Given the description of an element on the screen output the (x, y) to click on. 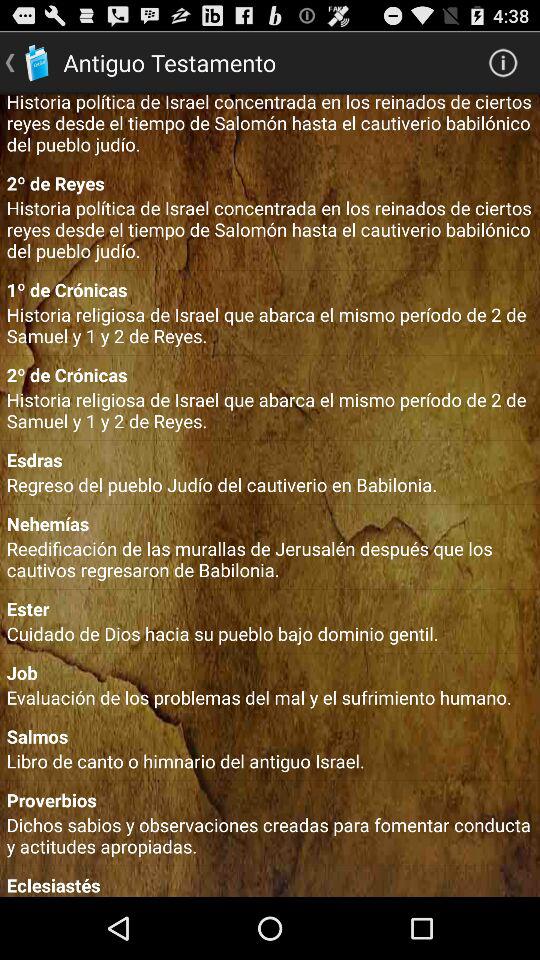
click the dichos sabios y item (269, 835)
